Given the description of an element on the screen output the (x, y) to click on. 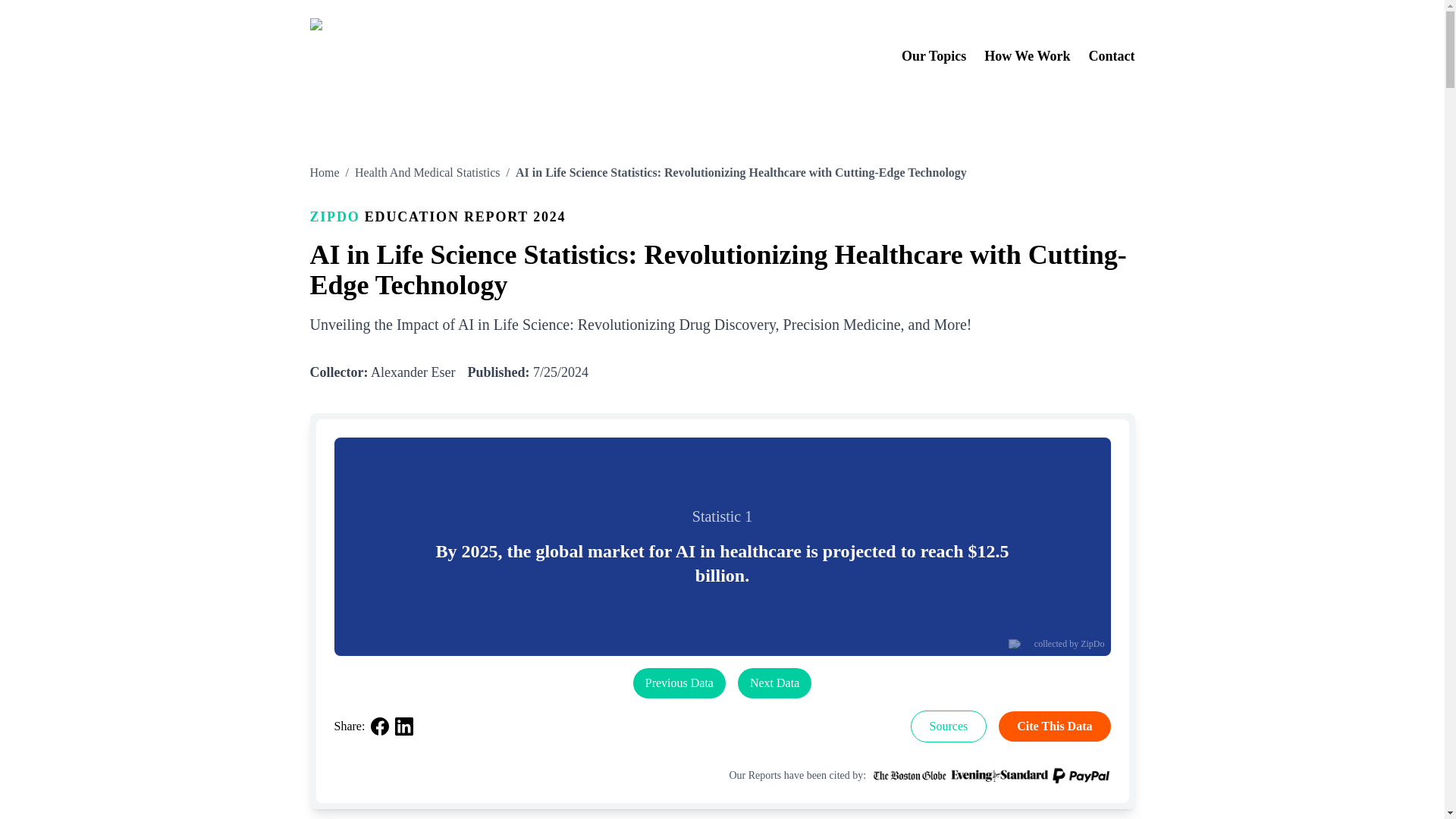
Previous Data (679, 682)
Health And Medical Statistics (427, 172)
Next Data (774, 682)
Our Topics (933, 55)
Contact (1112, 55)
Home (323, 172)
Home (323, 172)
Health And Medical Statistics (427, 172)
Cite This Data (1053, 726)
